Given the description of an element on the screen output the (x, y) to click on. 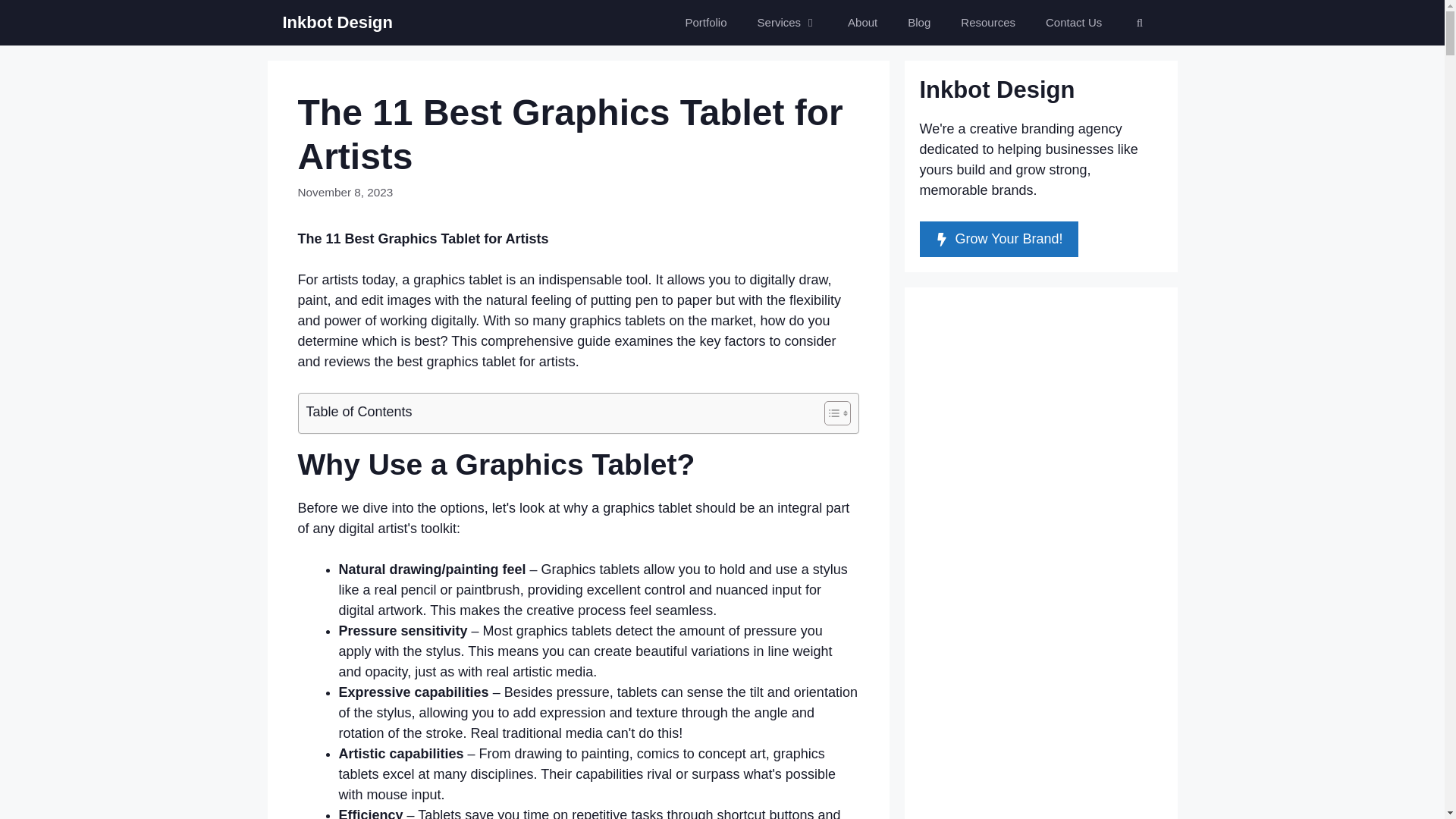
About Us (862, 22)
About (862, 22)
Graphic Design Portfolio (705, 22)
Graphic Design Resources (987, 22)
Resources (987, 22)
Blog (918, 22)
Graphic Design Services (787, 22)
Contact Us (1073, 22)
Inkbot Design (336, 22)
Graphic Design Blog (918, 22)
